Given the description of an element on the screen output the (x, y) to click on. 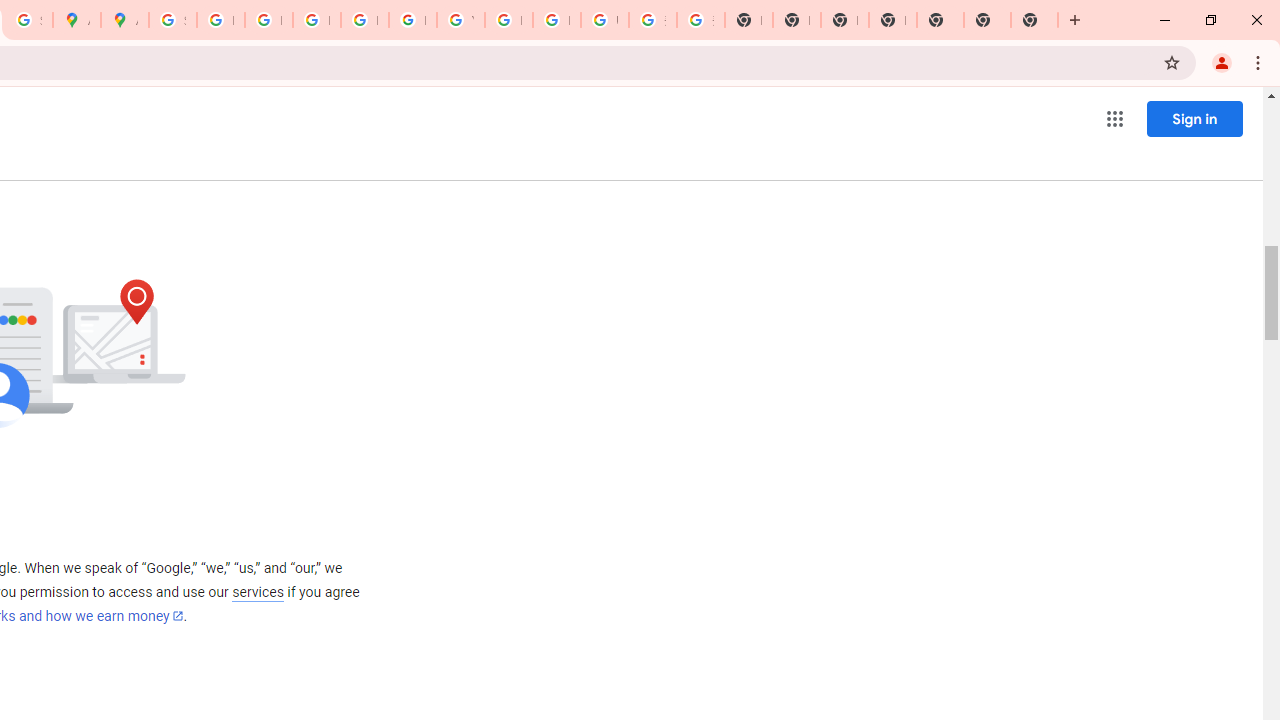
New Tab (1034, 20)
YouTube (460, 20)
New Tab (892, 20)
services (257, 592)
New Tab (987, 20)
